Given the description of an element on the screen output the (x, y) to click on. 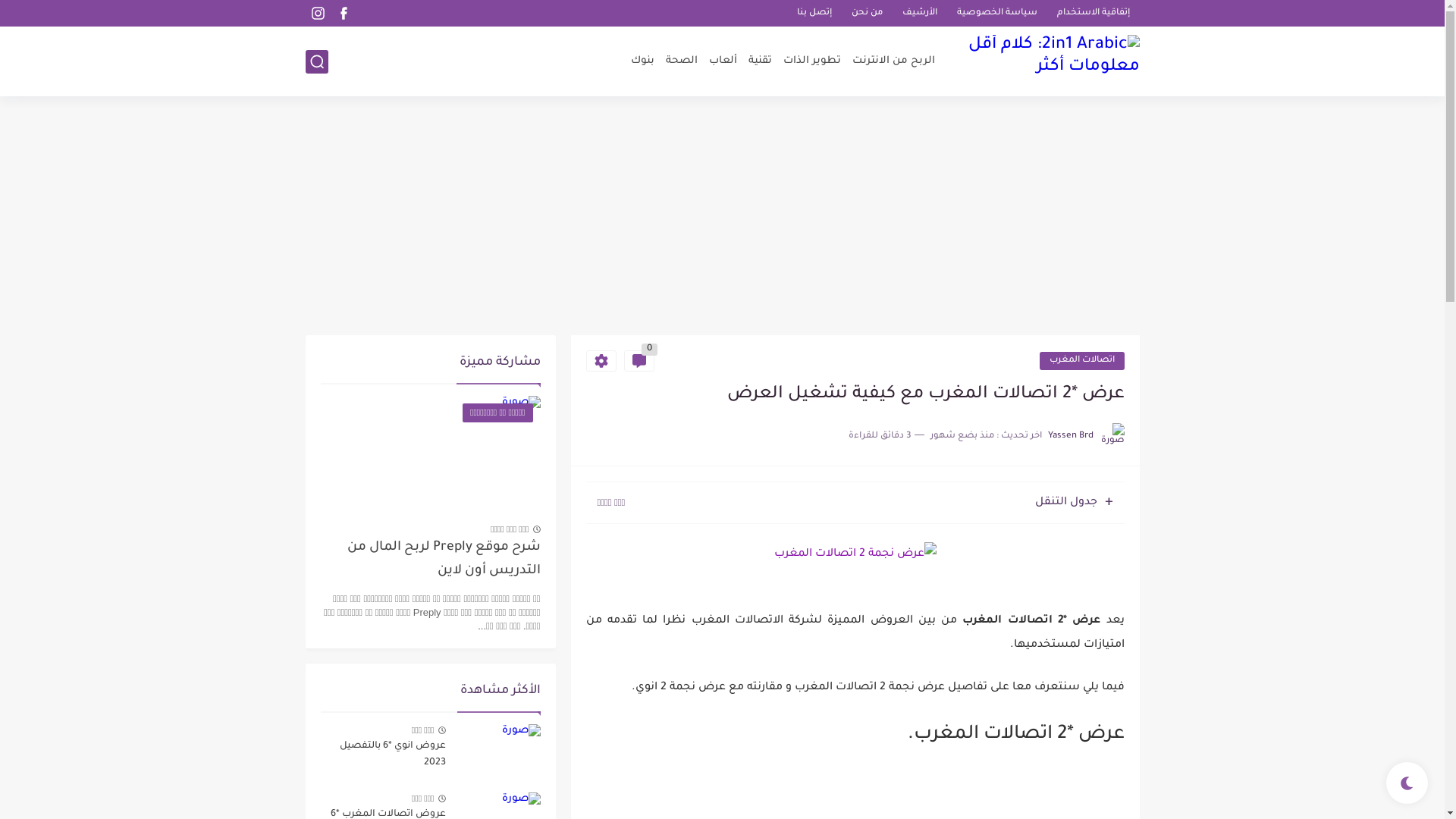
facebook Element type: hover (344, 13)
0 Element type: text (638, 360)
Advertisement Element type: hover (721, 217)
instagram Element type: hover (318, 13)
